Given the description of an element on the screen output the (x, y) to click on. 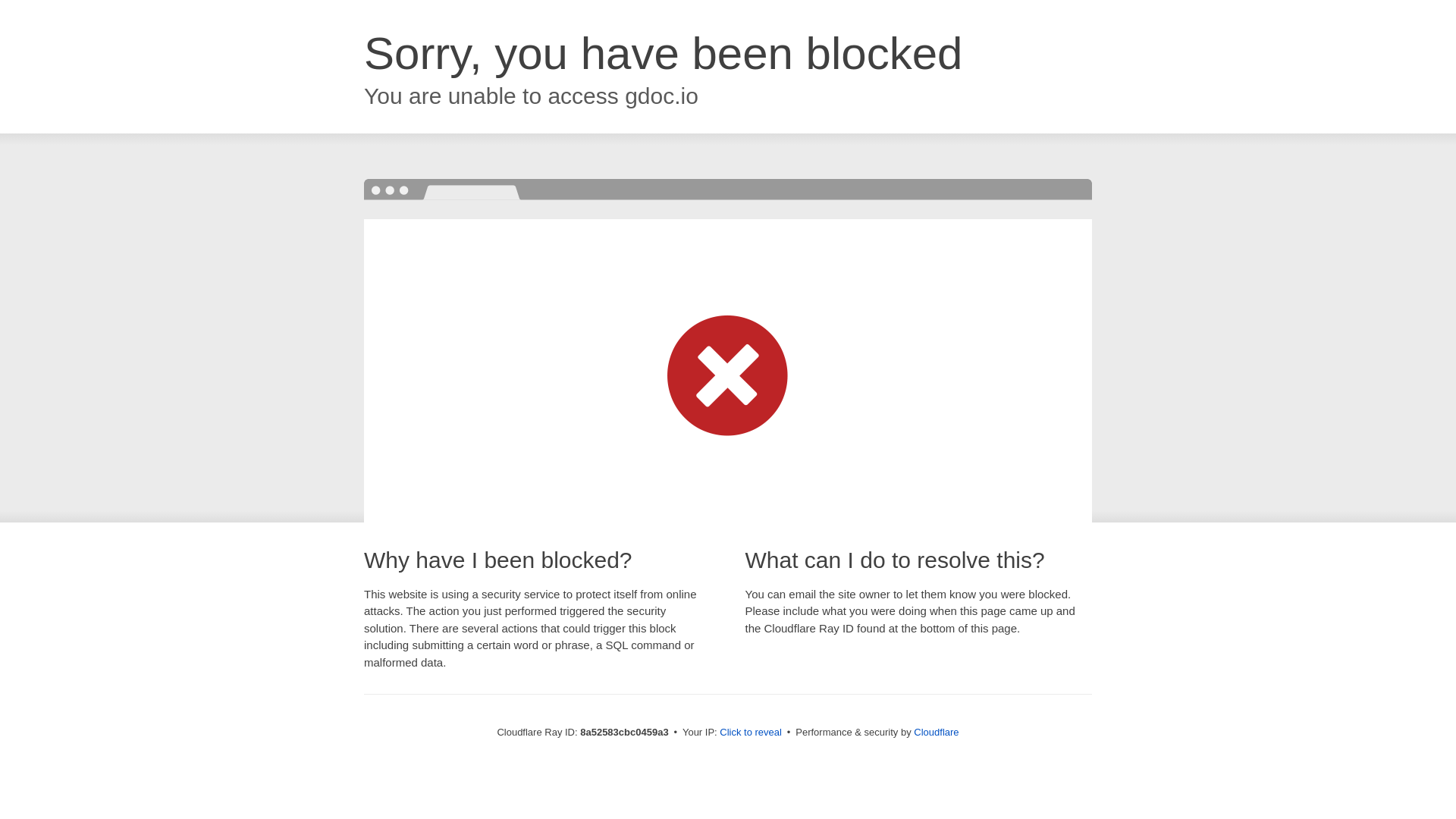
Click to reveal (750, 732)
Cloudflare (936, 731)
